Given the description of an element on the screen output the (x, y) to click on. 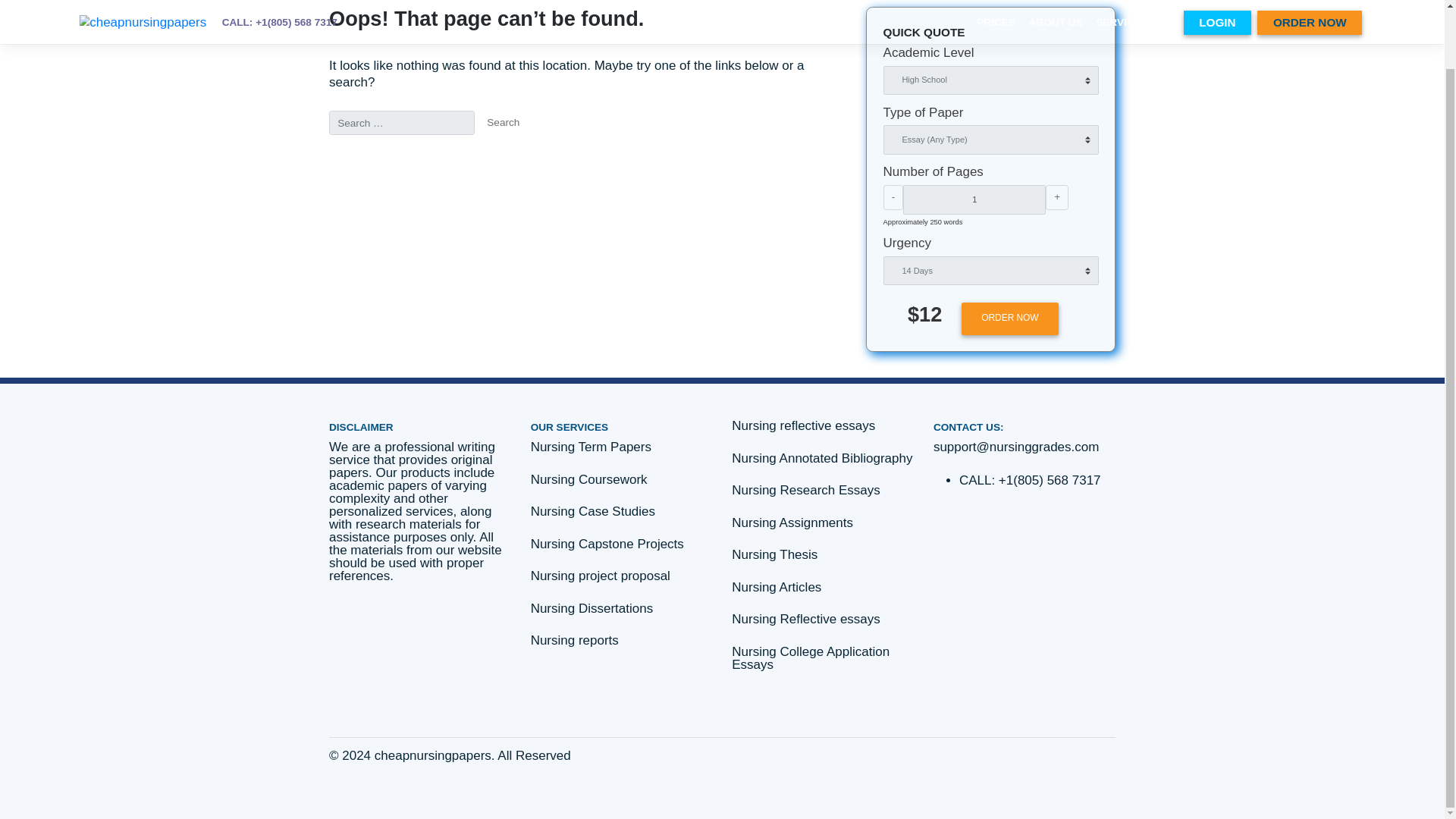
Search (591, 154)
Search for: (473, 154)
1 (1146, 245)
Search (591, 154)
ORDER NOW (1188, 385)
Search (591, 154)
